Given the description of an element on the screen output the (x, y) to click on. 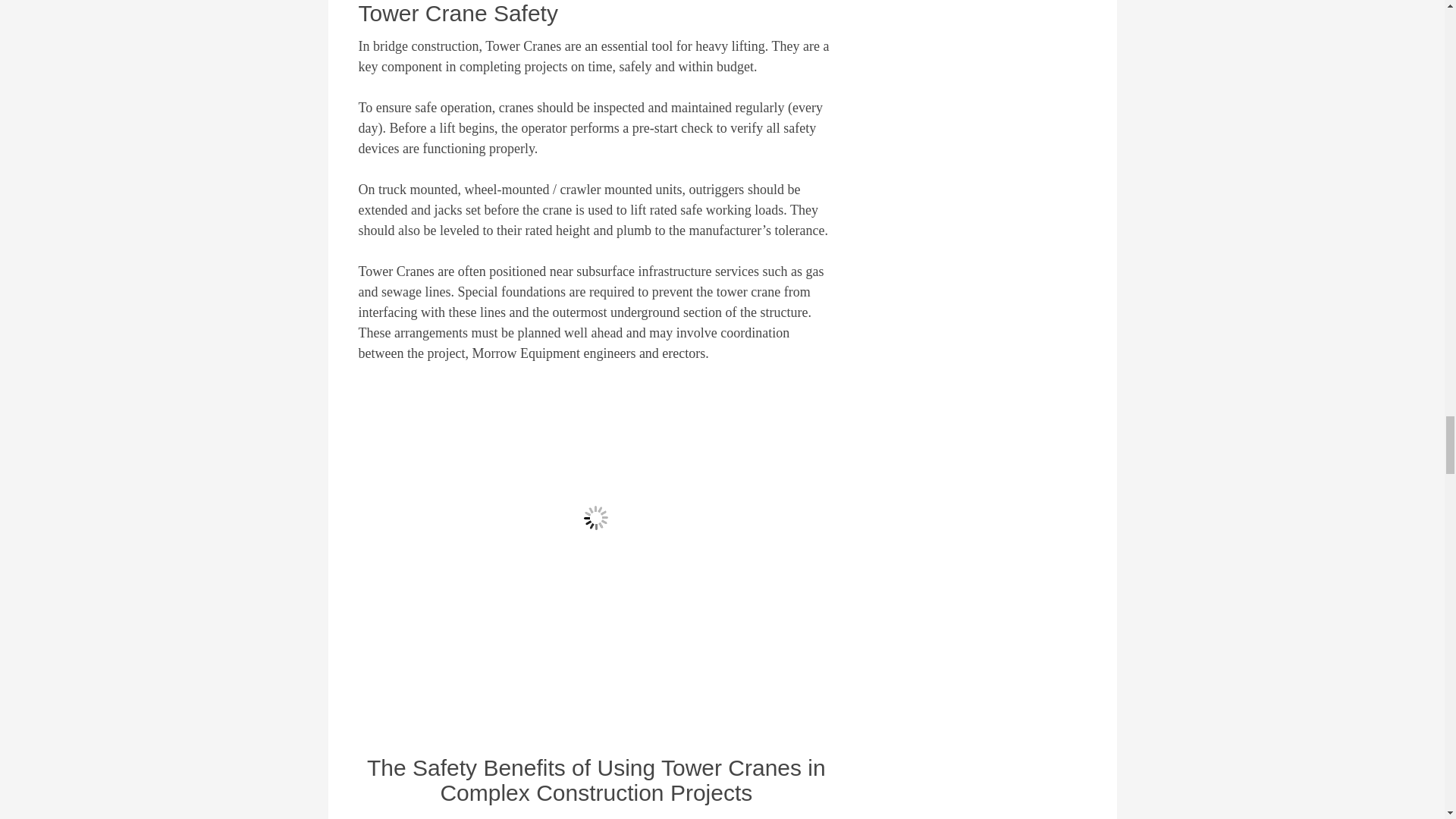
How Tower Cranes Build Themselves (595, 517)
